Given the description of an element on the screen output the (x, y) to click on. 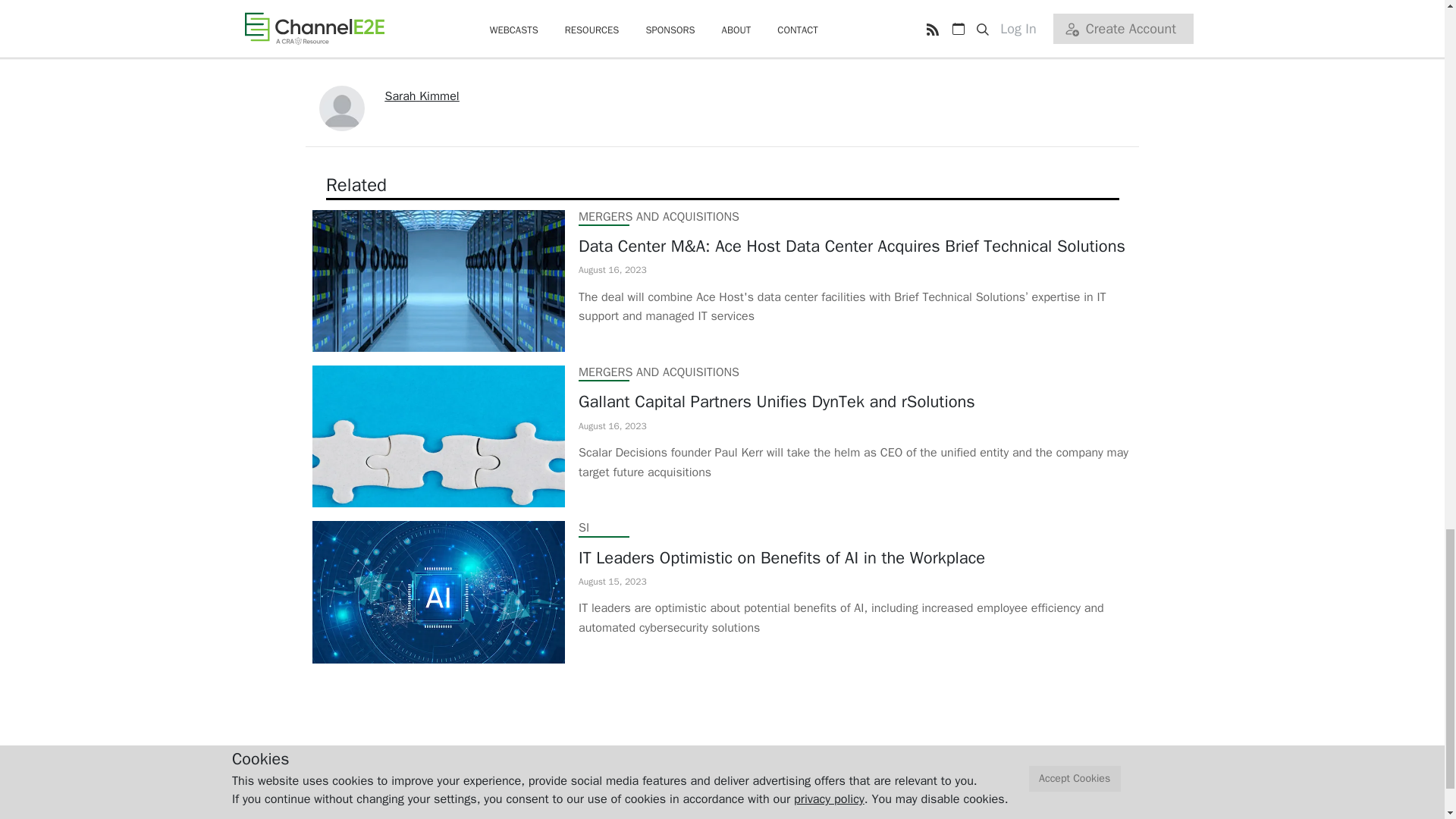
Sarah Kimmel (422, 96)
MERGERS AND ACQUISITIONS (658, 216)
MERGERS AND ACQUISITIONS (658, 372)
Gallant Capital Partners Unifies DynTek and rSolutions (855, 401)
IT Leaders Optimistic on Benefits of AI in the Workplace (855, 557)
